Given the description of an element on the screen output the (x, y) to click on. 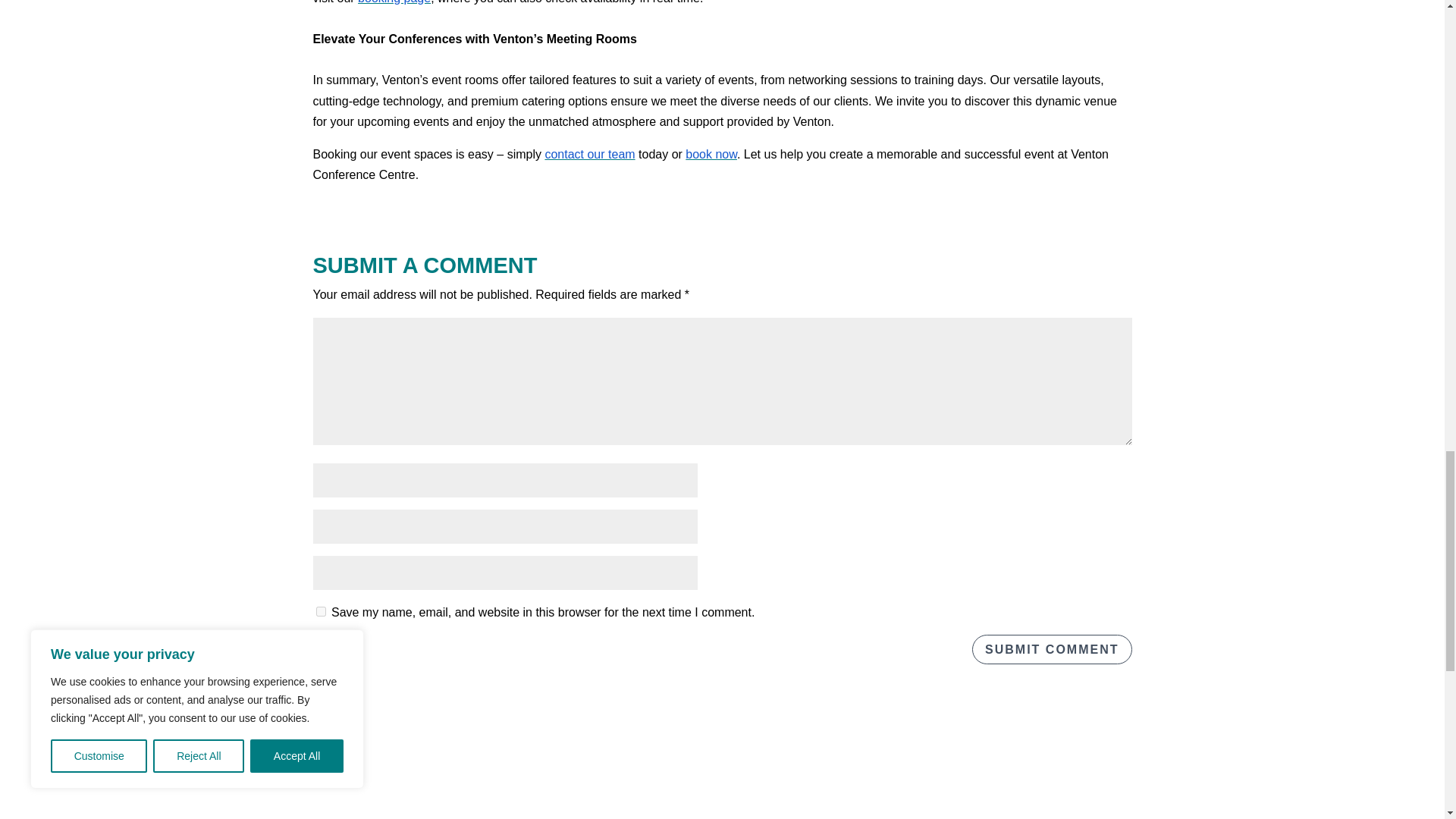
Submit Comment (1051, 649)
yes (319, 611)
